Given the description of an element on the screen output the (x, y) to click on. 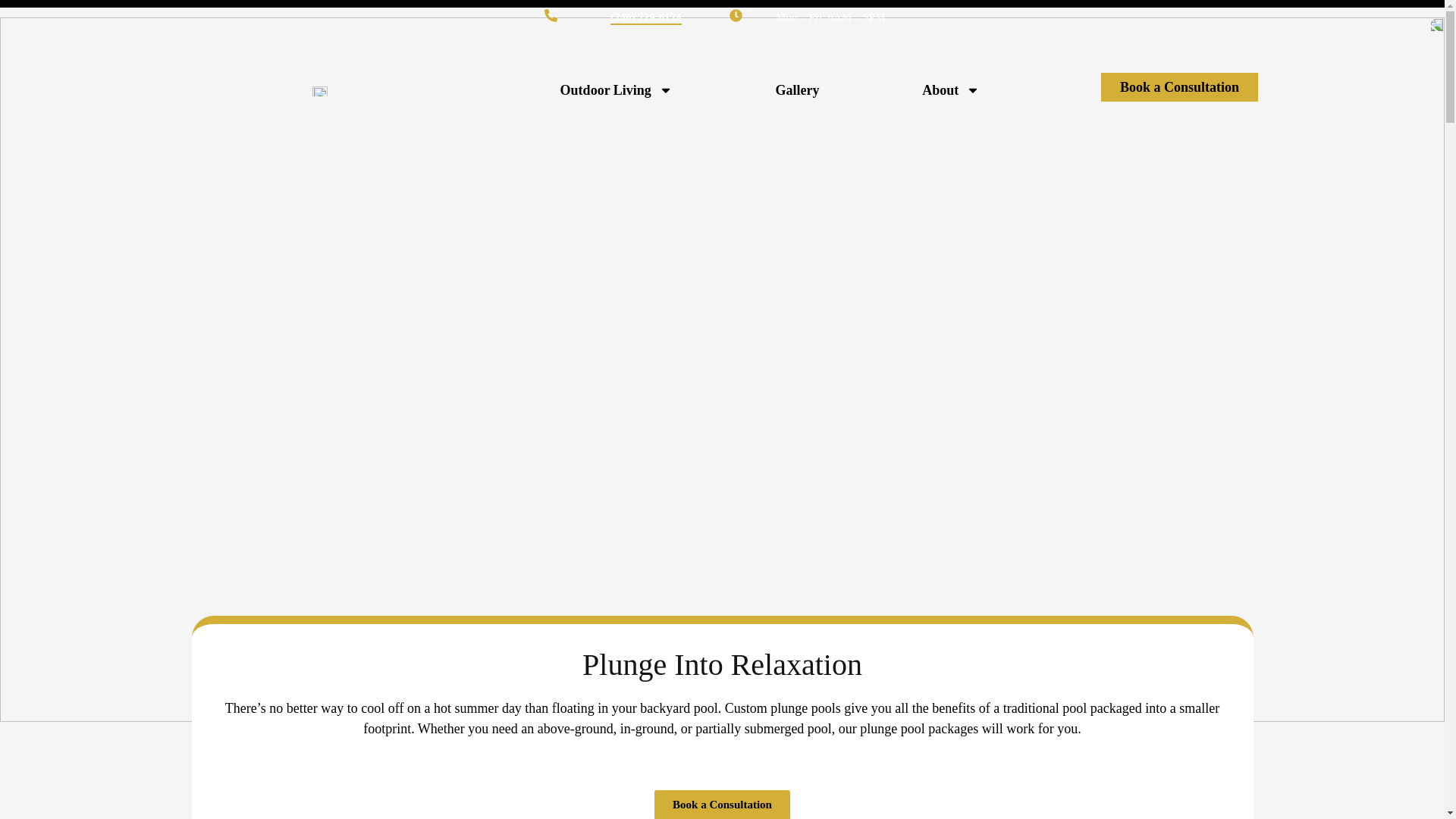
Book a Consultation (1178, 86)
Book a Consultation (721, 804)
About (950, 89)
Gallery (796, 89)
Outdoor Living (615, 89)
